Given the description of an element on the screen output the (x, y) to click on. 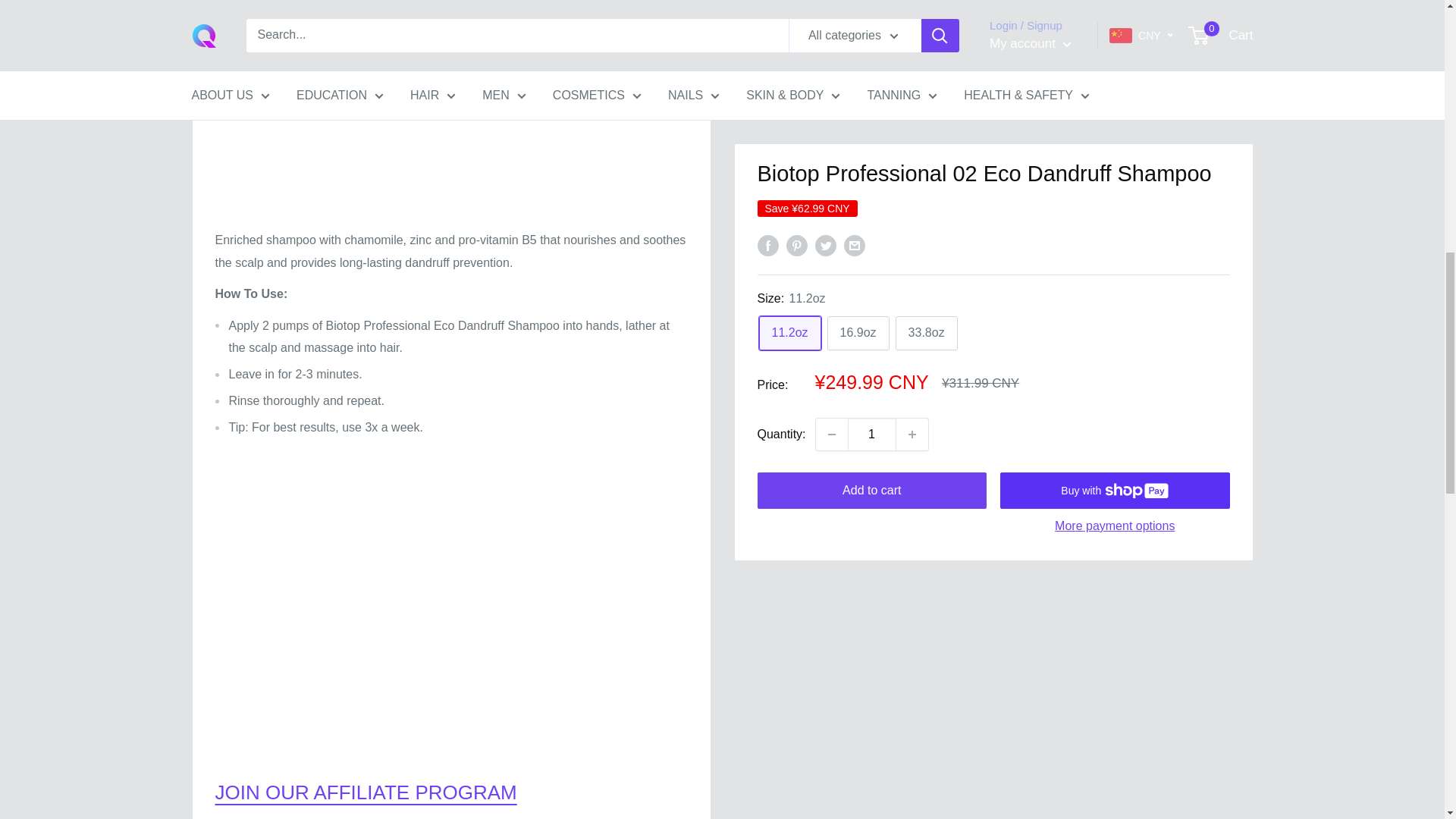
vimeo-player (451, 96)
YouTube video player (451, 608)
JOIN OUR AFFILIATE PROGRAM (365, 792)
